Given the description of an element on the screen output the (x, y) to click on. 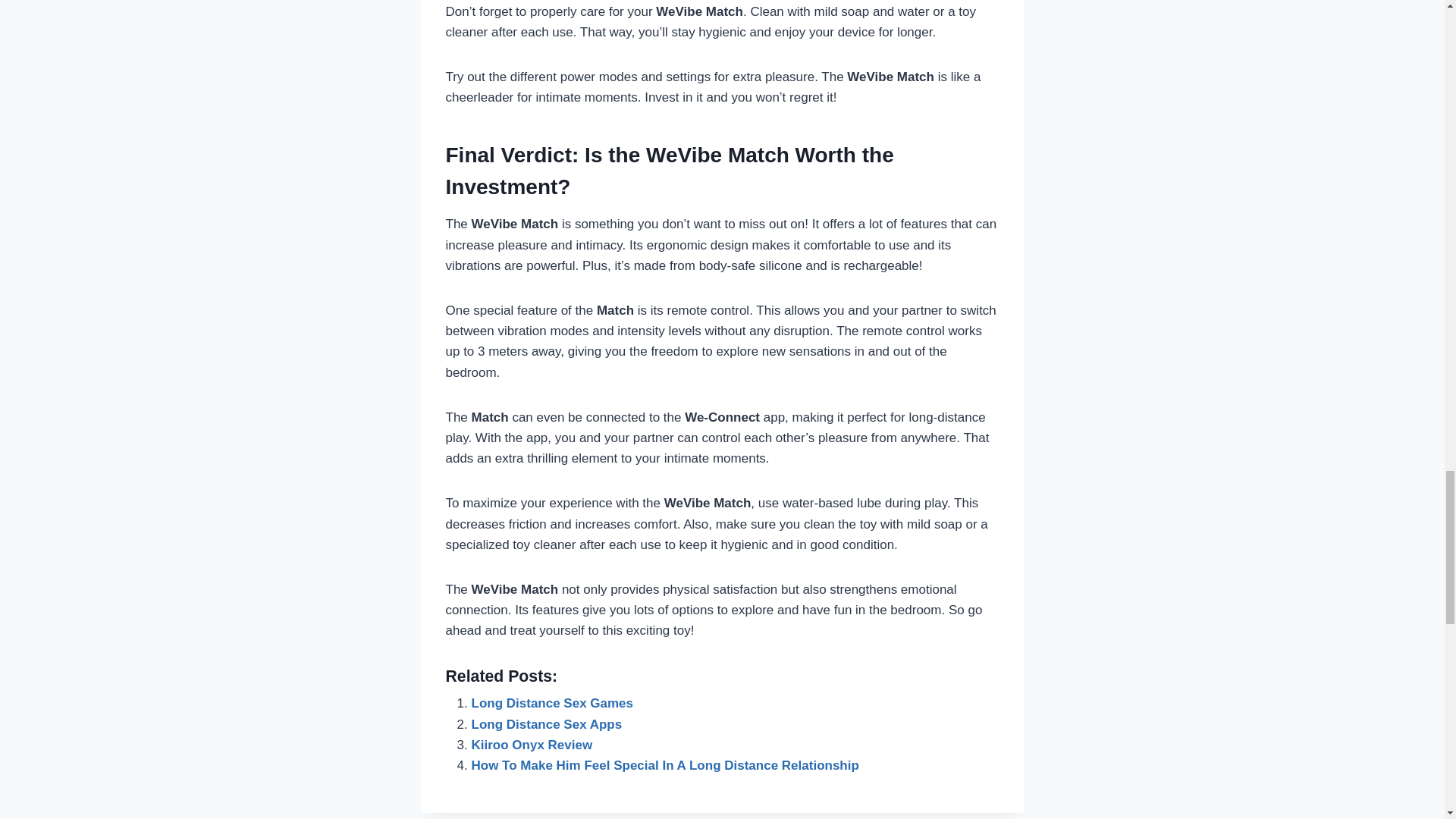
How To Make Him Feel Special In A Long Distance Relationship (665, 765)
Long Distance Sex Apps (547, 724)
Long Distance Sex Games (552, 703)
Kiiroo Onyx Review (531, 744)
How To Make Him Feel Special In A Long Distance Relationship (665, 765)
Kiiroo Onyx  Review (531, 744)
Long Distance Sex Apps (547, 724)
Long Distance Sex Games (552, 703)
